Given the description of an element on the screen output the (x, y) to click on. 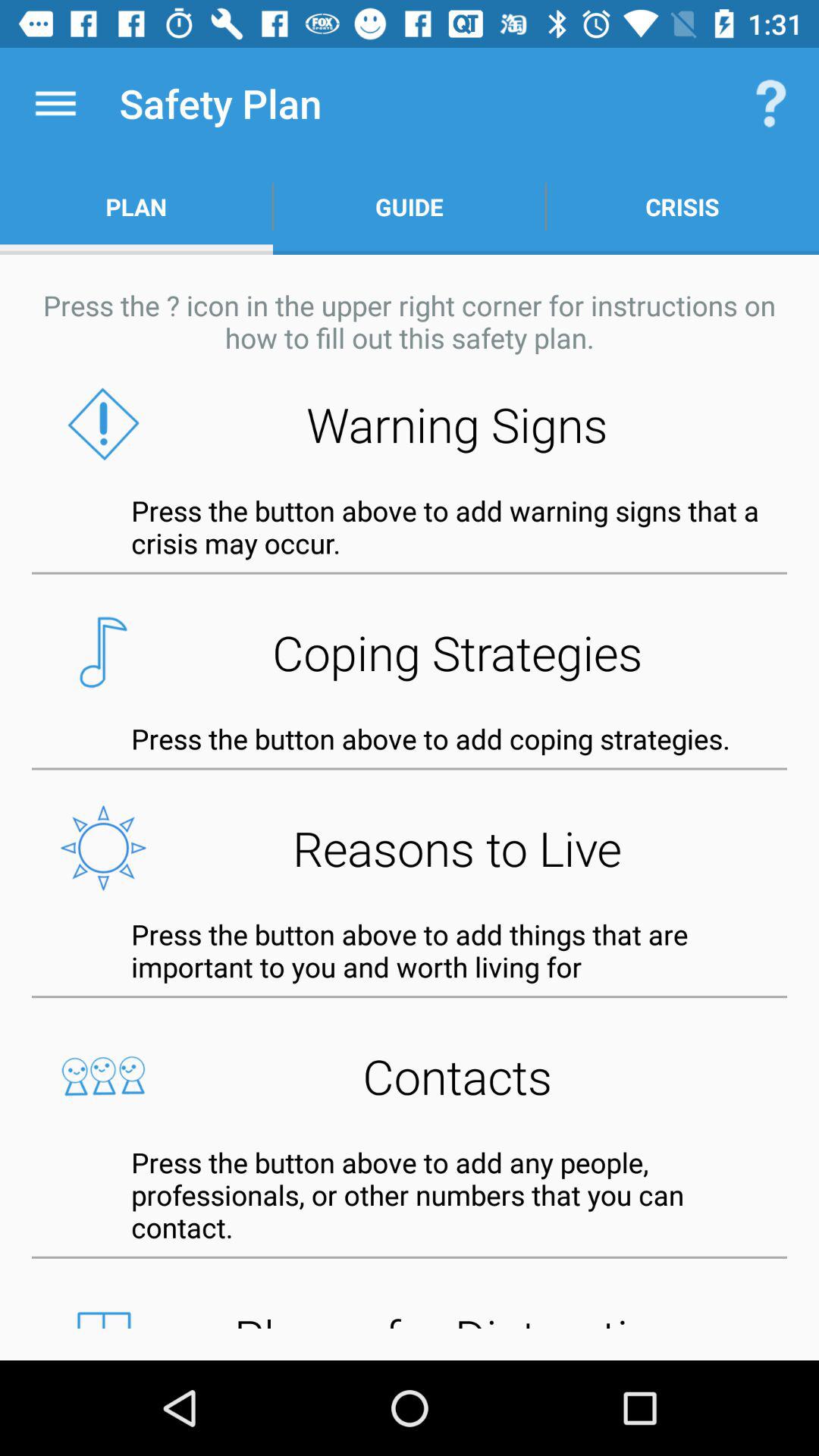
press app next to safety plan (55, 103)
